Given the description of an element on the screen output the (x, y) to click on. 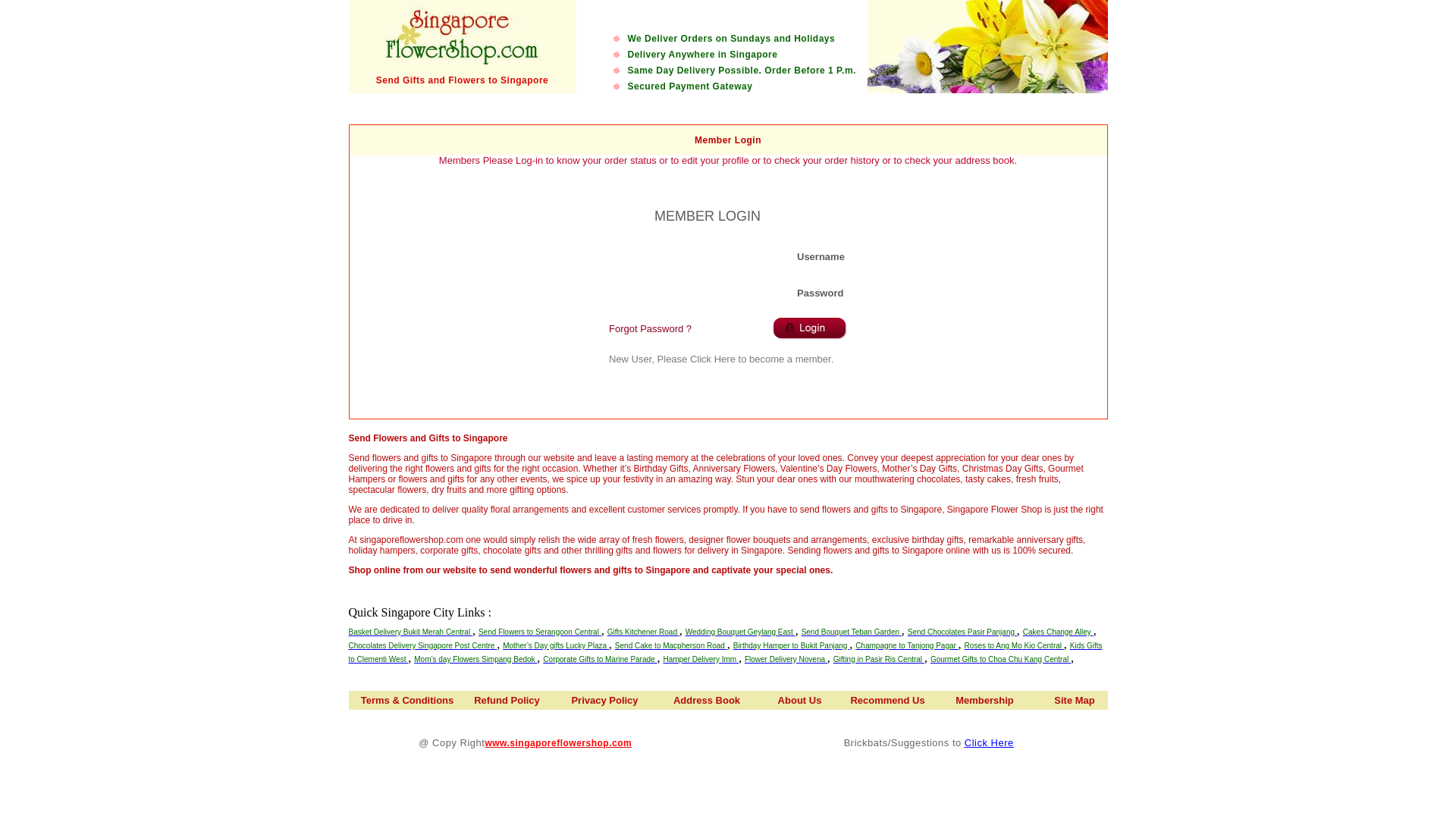
Affiliation (514, 107)
Basket Delivery Bukit Merah Central (410, 630)
Flowers and Gifts Delivery Singapore (462, 33)
Kids Gifts to Clementi West (725, 651)
Send Bouquet Teban Garden (851, 632)
Wedding Bouquet Geylang East  (739, 632)
Send Bouquet Teban Garden (851, 630)
Flower Delivery Novena (785, 657)
Send Cake to Macpherson Road (670, 644)
Cakes Change Alley (1058, 630)
Contact Us (1058, 107)
Wedding Bouquet Geylang East (739, 630)
Payment (682, 107)
Roses to Ang Mo Kio Central (1013, 644)
Order Status (904, 107)
